Given the description of an element on the screen output the (x, y) to click on. 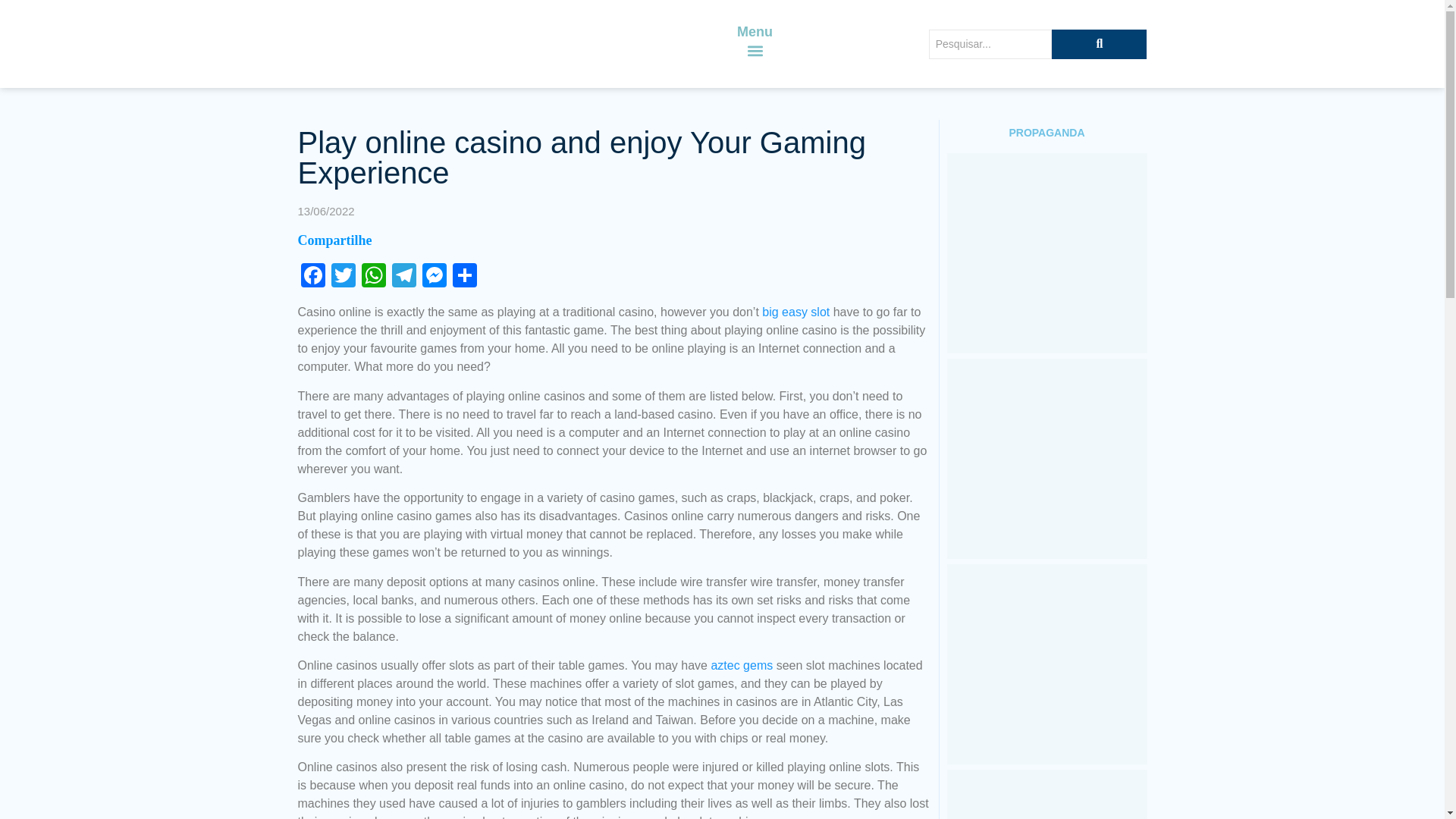
Telegram (403, 276)
Facebook (312, 276)
WhatsApp (373, 276)
Twitter (342, 276)
aztec gems (741, 665)
Facebook (312, 276)
Telegram (403, 276)
big easy slot (795, 311)
Messenger (433, 276)
Twitter (342, 276)
